Given the description of an element on the screen output the (x, y) to click on. 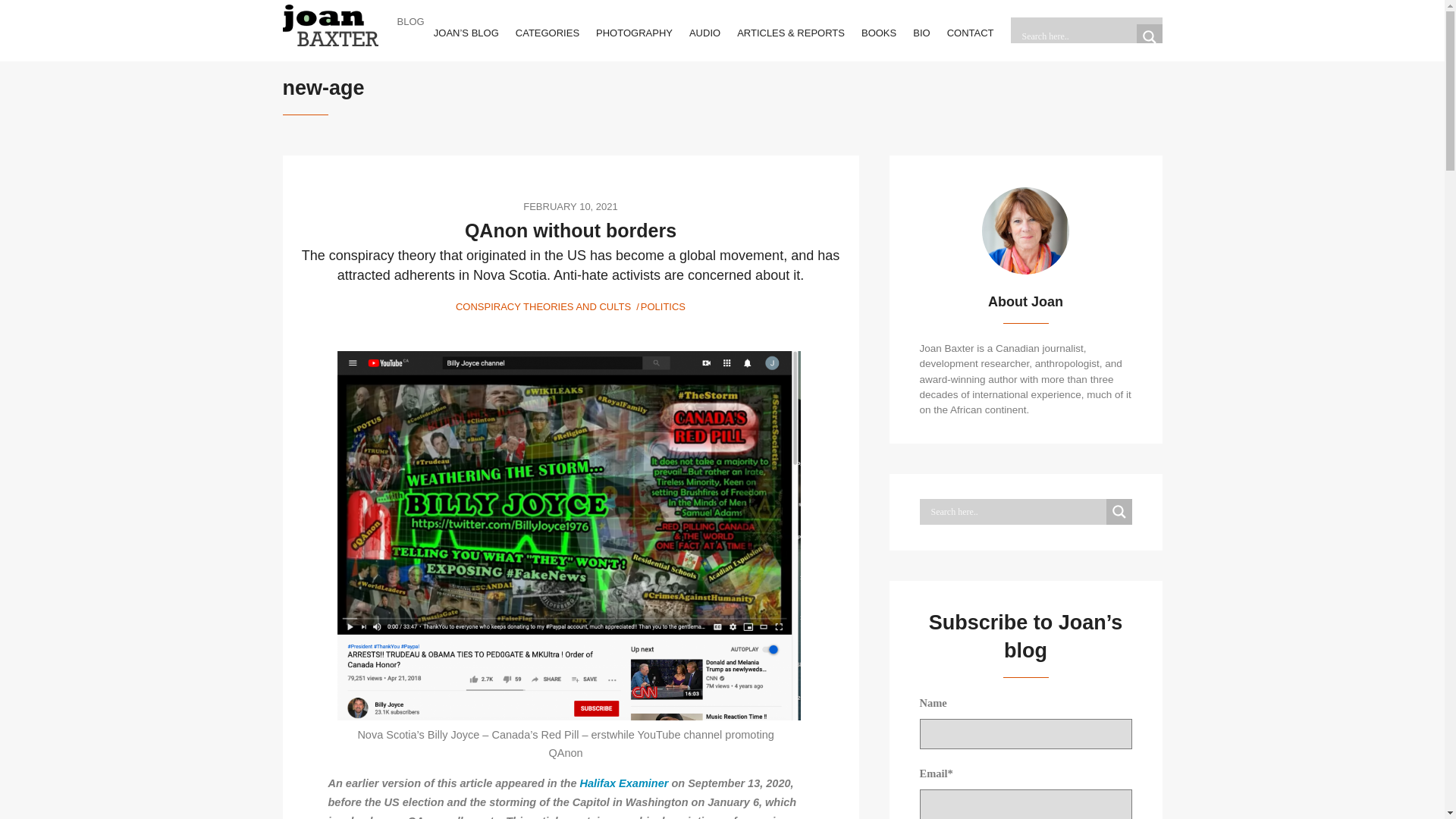
CATEGORIES (547, 31)
FEBRUARY 10, 2021 (569, 205)
CONSPIRACY THEORIES AND CULTS (542, 306)
PHOTOGRAPHY (633, 31)
AUDIO (704, 31)
BOOKS (878, 31)
Joan Baxter - Blog (329, 24)
POLITICS (662, 306)
CONTACT (970, 31)
Halifax Examiner (623, 783)
